Given the description of an element on the screen output the (x, y) to click on. 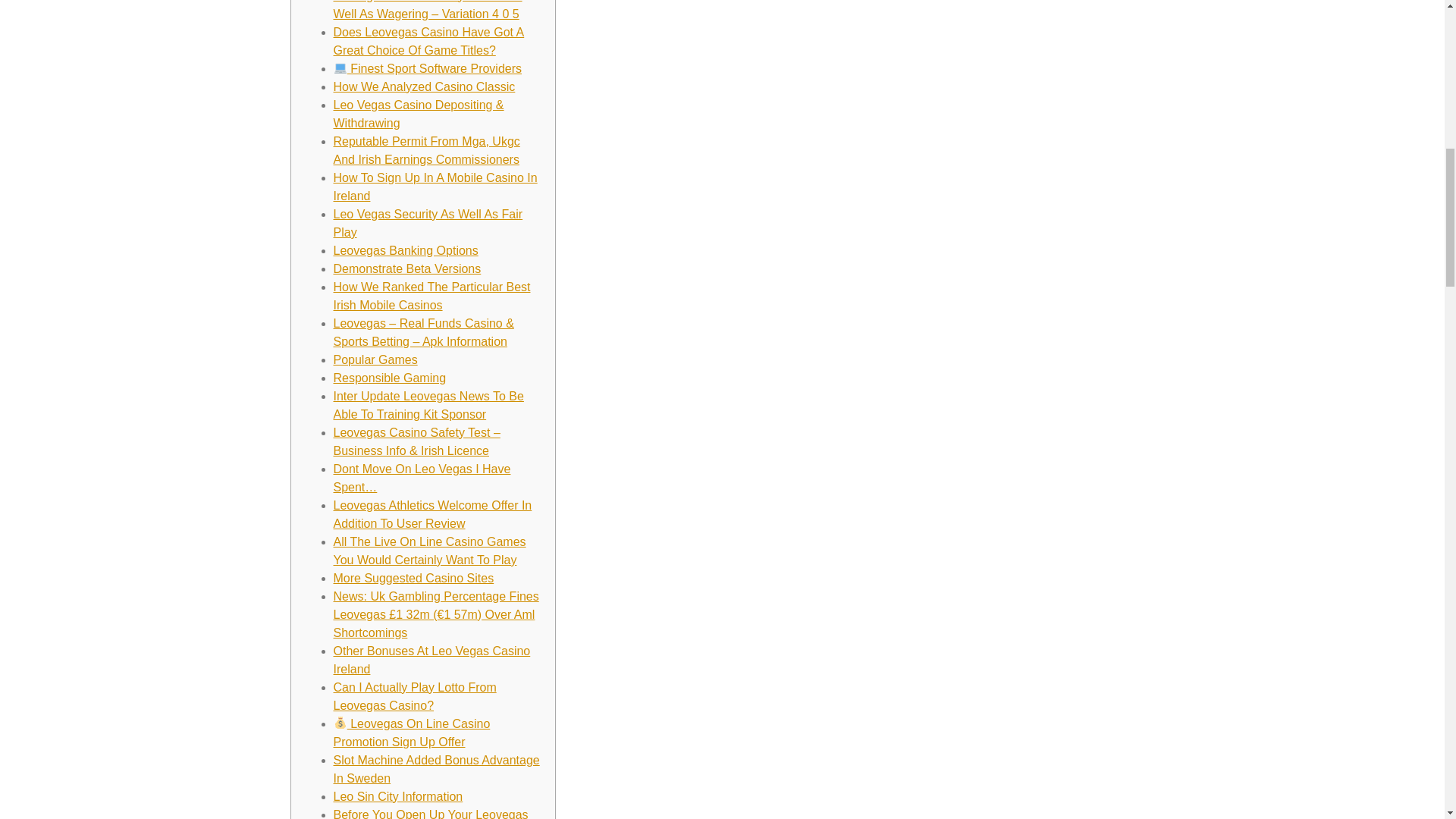
How We Ranked The Particular Best Irish Mobile Casinos (432, 296)
Can I Actually Play Lotto From Leovegas Casino? (414, 695)
Before You Open Up Your Leovegas Account (430, 813)
More Suggested Casino Sites (414, 577)
Leovegas Banking Options (406, 250)
Slot Machine Added Bonus Advantage In Sweden (436, 768)
Popular Games (375, 359)
Demonstrate Beta Versions (407, 268)
Responsible Gaming (389, 377)
Leovegas Athletics Welcome Offer In Addition To User Review (432, 513)
Leo Sin City Information (398, 796)
Other Bonuses At Leo Vegas Casino Ireland (432, 659)
Leovegas On Line Casino Promotion Sign Up Offer (411, 732)
